Given the description of an element on the screen output the (x, y) to click on. 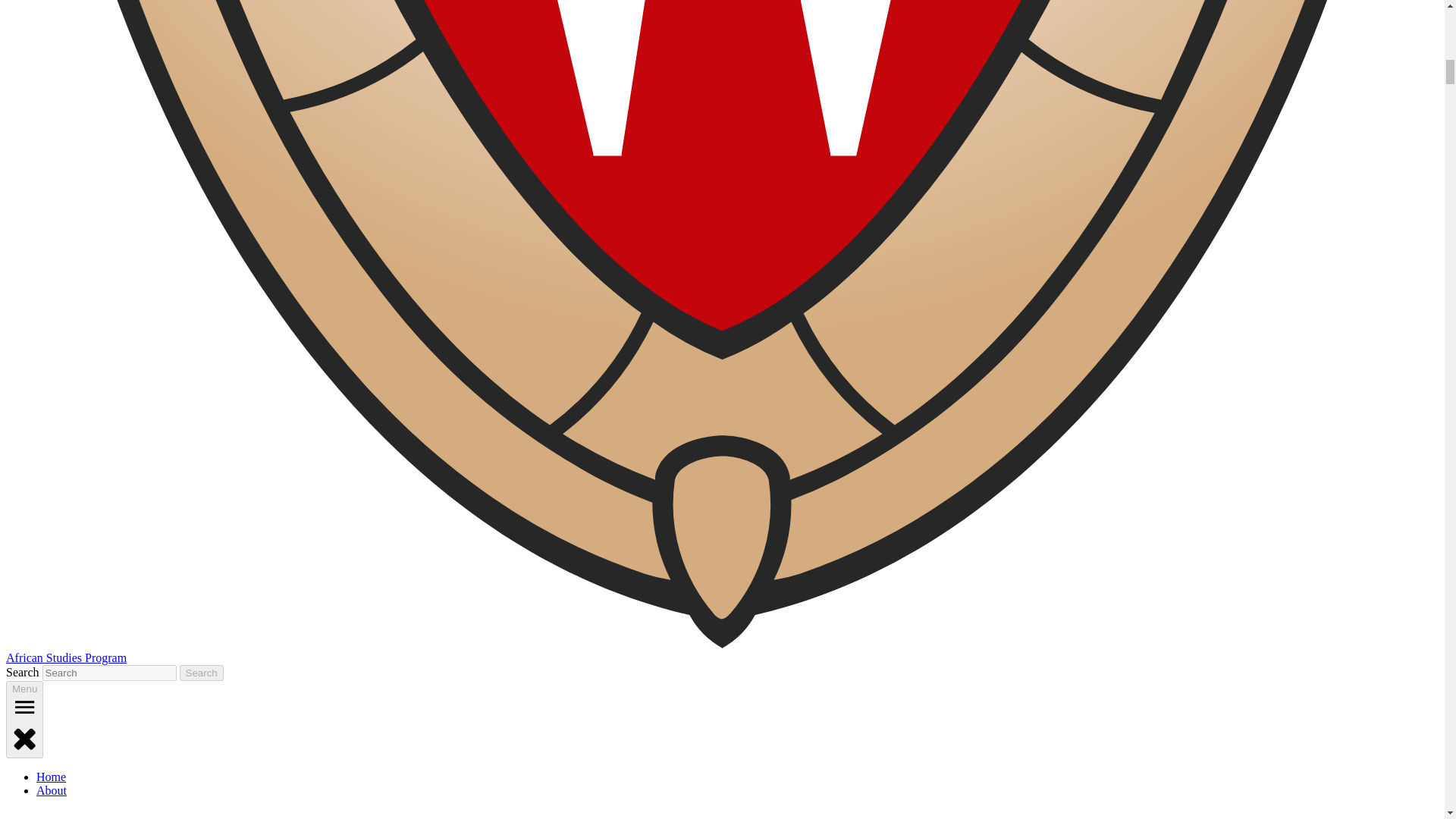
open menu (24, 706)
Home (50, 776)
Search (201, 672)
Search (201, 672)
Search (201, 672)
African Studies Program (65, 657)
